Given the description of an element on the screen output the (x, y) to click on. 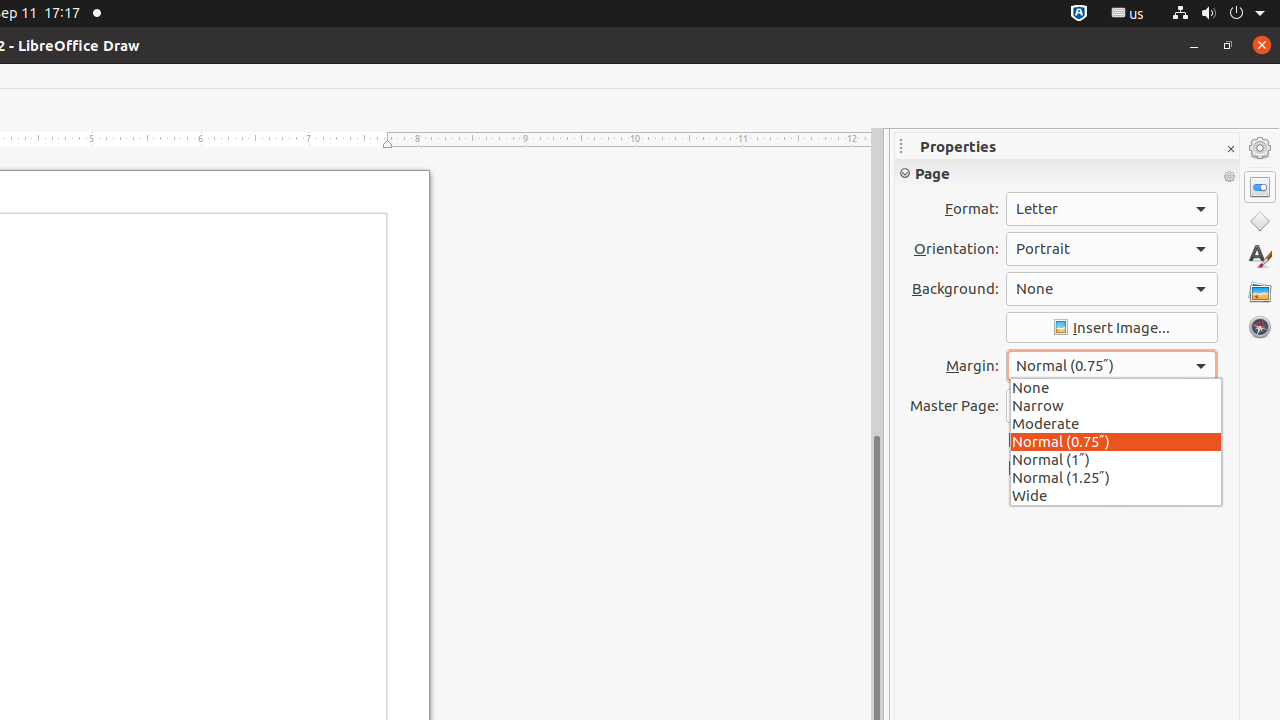
Close Sidebar Deck Element type: push-button (1230, 149)
Normal (0.75″) Element type: list-item (1116, 441)
Background: Element type: combo-box (1112, 289)
Navigator Element type: radio-button (1260, 327)
Normal (1″) Element type: list-item (1116, 459)
